Given the description of an element on the screen output the (x, y) to click on. 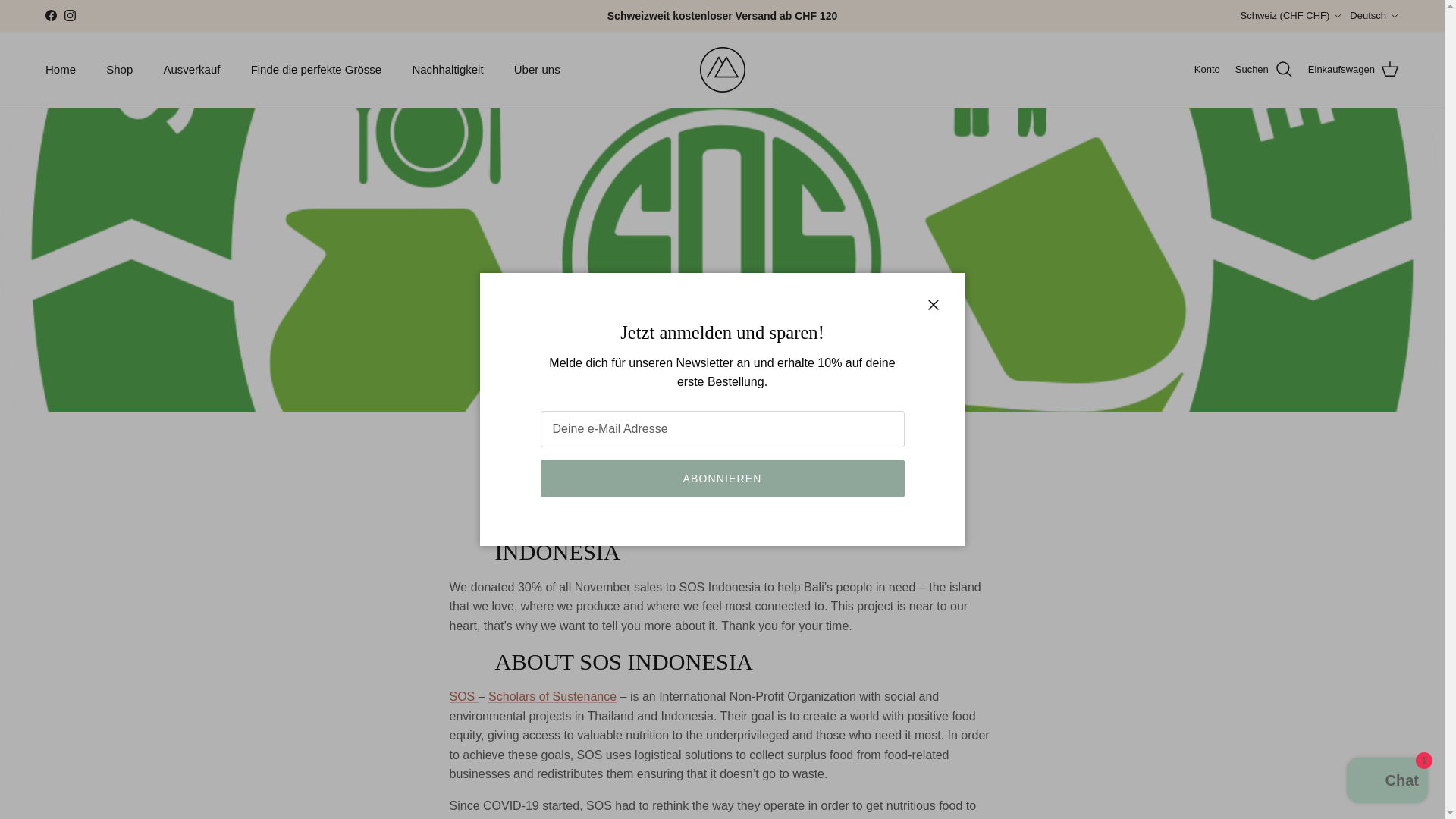
Main Design auf Facebook (50, 15)
Shop (120, 70)
Main Design (721, 69)
Instagram (69, 15)
Main Design auf Instagram (69, 15)
Ausverkauf (190, 70)
Nachhaltigkeit (446, 70)
Onlineshop-Chat von Shopify (1387, 781)
Home (60, 70)
Konto (1206, 69)
Facebook (50, 15)
Suchen (1263, 69)
Deutsch (1374, 15)
Einkaufswagen (1353, 69)
